Given the description of an element on the screen output the (x, y) to click on. 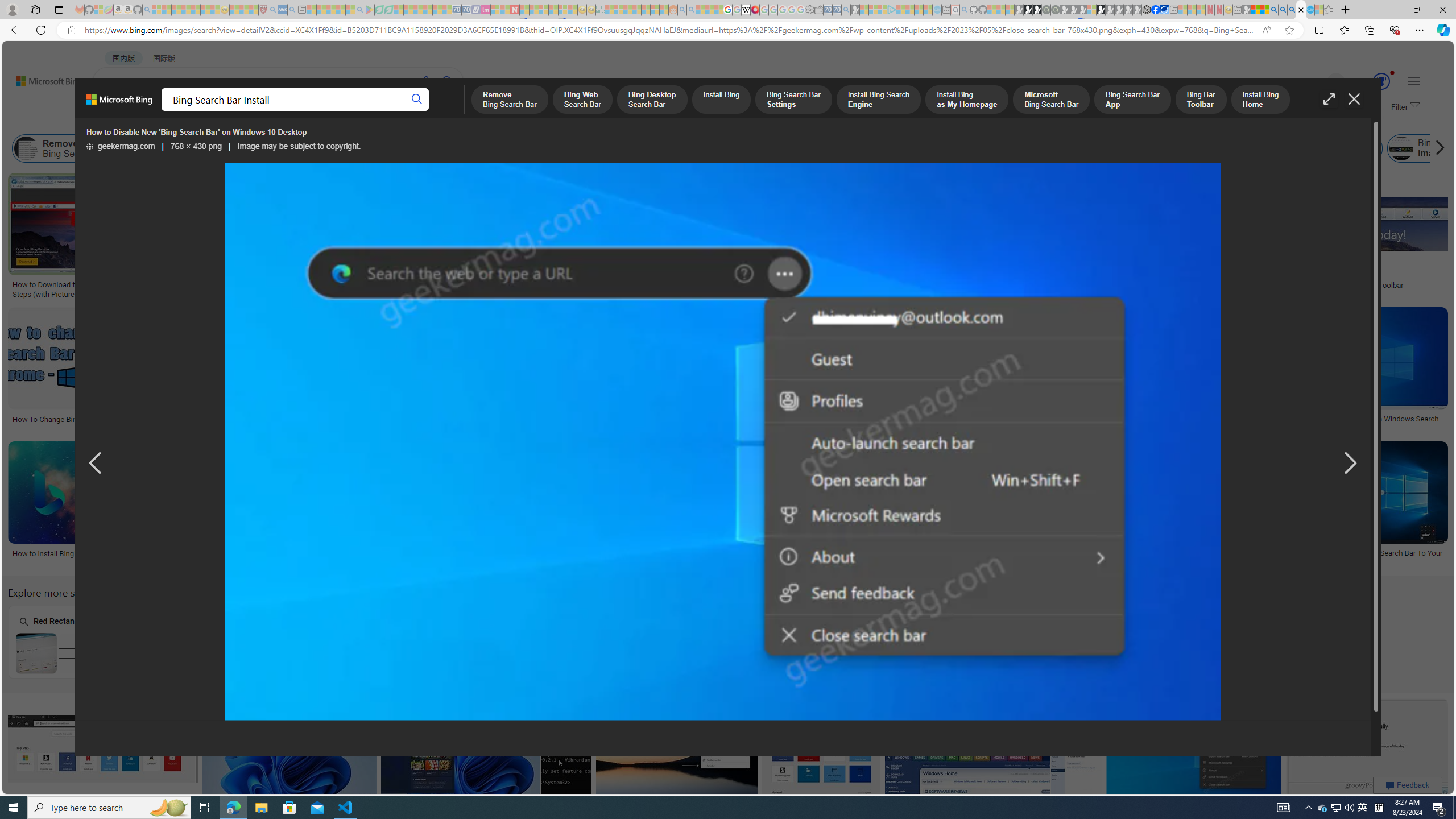
Bing T-Shirts (704, 212)
Search using voice (426, 80)
AirNow.gov (1163, 9)
Bing Web Search Bar (168, 148)
